Given the description of an element on the screen output the (x, y) to click on. 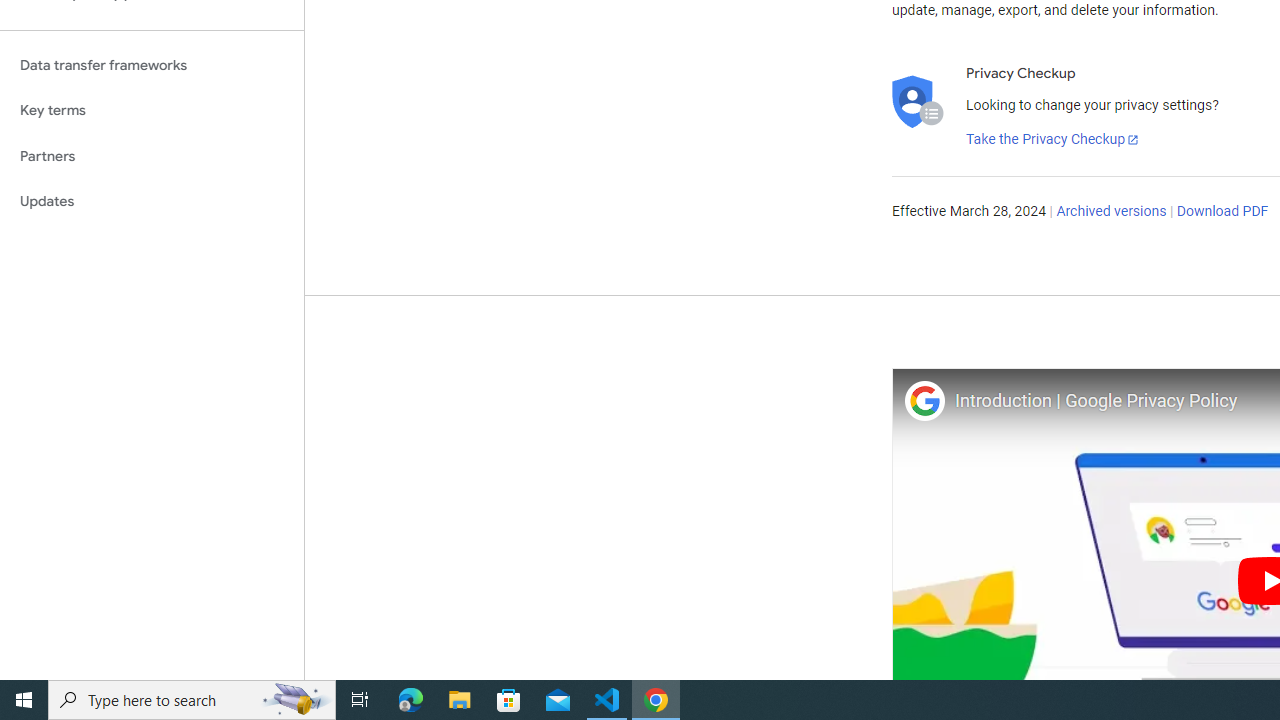
Partners (152, 156)
Photo image of Google (924, 400)
Data transfer frameworks (152, 65)
Take the Privacy Checkup (1053, 140)
Archived versions (1111, 212)
Key terms (152, 110)
Download PDF (1222, 212)
